Given the description of an element on the screen output the (x, y) to click on. 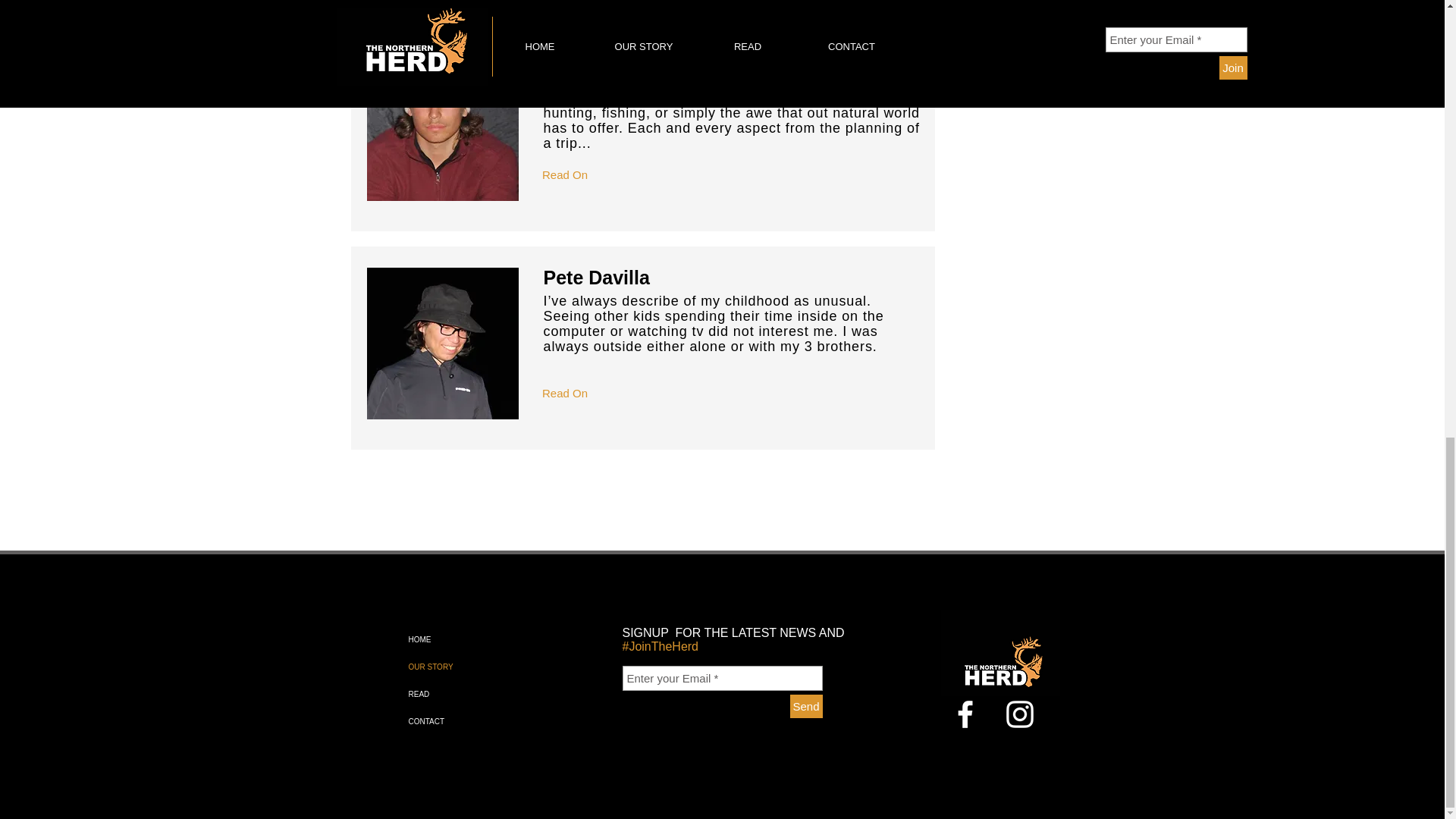
Send (806, 706)
OUR STORY (482, 666)
READ (482, 694)
CONTACT (482, 721)
HOME (482, 639)
